Given the description of an element on the screen output the (x, y) to click on. 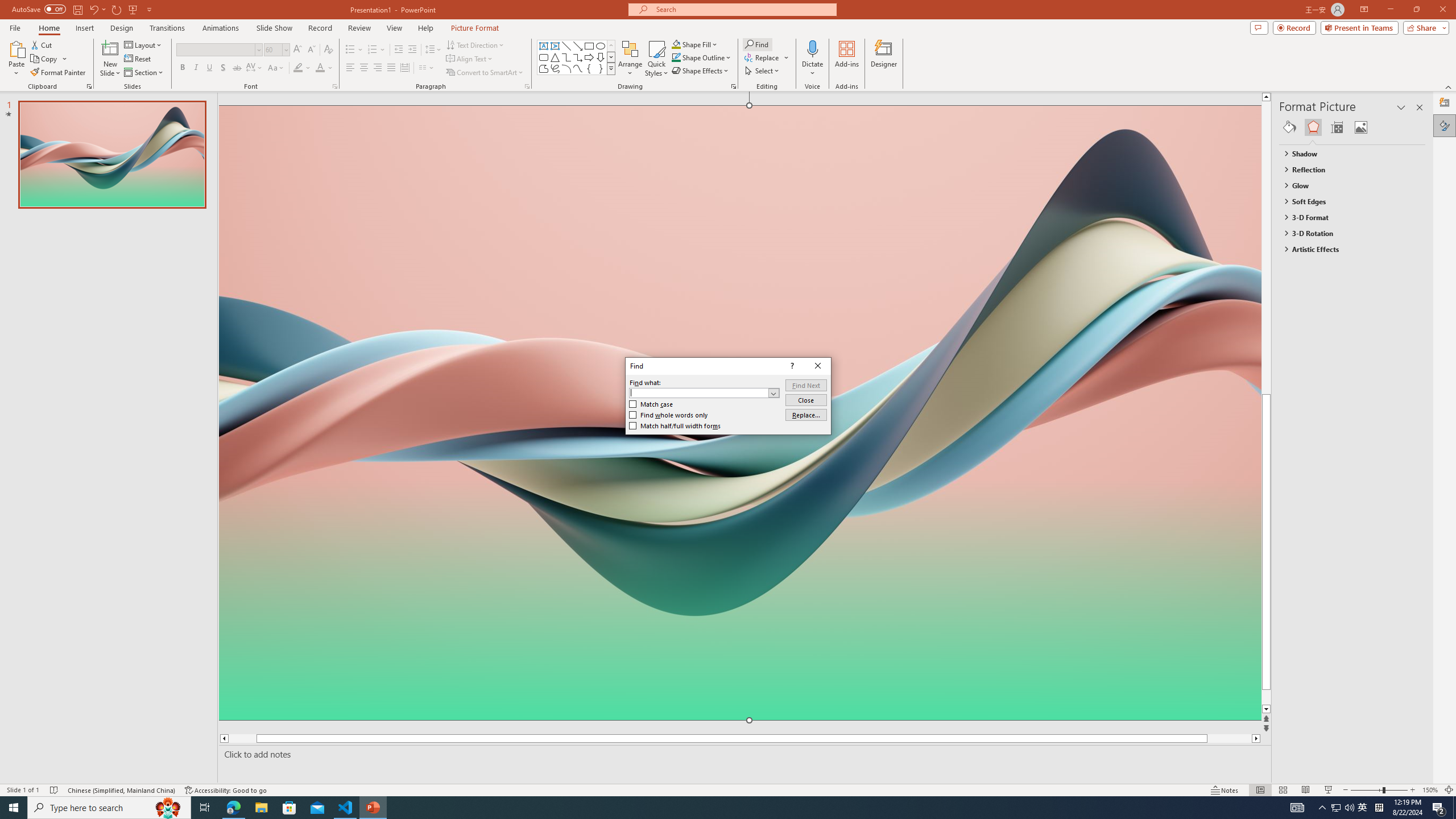
Accessibility Checker Accessibility: Good to go (226, 790)
Soft Edges (1347, 201)
Font Color Red (320, 67)
Character Spacing (254, 67)
Format Picture (1444, 125)
Text Highlight Color Yellow (297, 67)
Microsoft Edge - 1 running window (233, 807)
Glow (1347, 185)
